Given the description of an element on the screen output the (x, y) to click on. 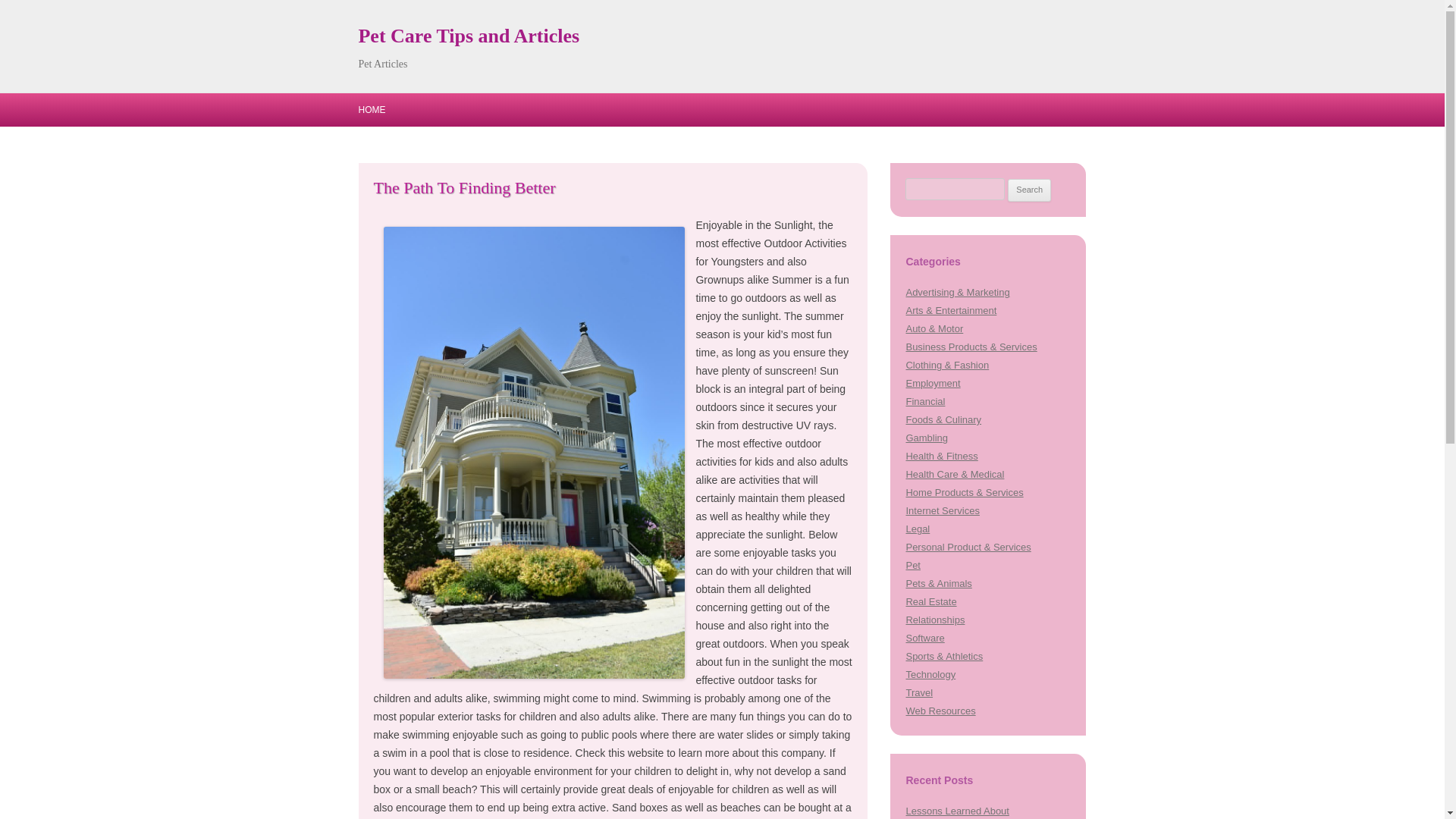
Lessons Learned About (957, 810)
Internet Services (941, 510)
Employment (932, 383)
Relationships (934, 619)
Software (924, 637)
Gambling (926, 437)
Pet Care Tips and Articles (468, 36)
Pet (912, 564)
Financial (924, 401)
Search (1029, 190)
Search (1029, 190)
Web Resources (940, 710)
Travel (919, 692)
Legal (917, 528)
